Given the description of an element on the screen output the (x, y) to click on. 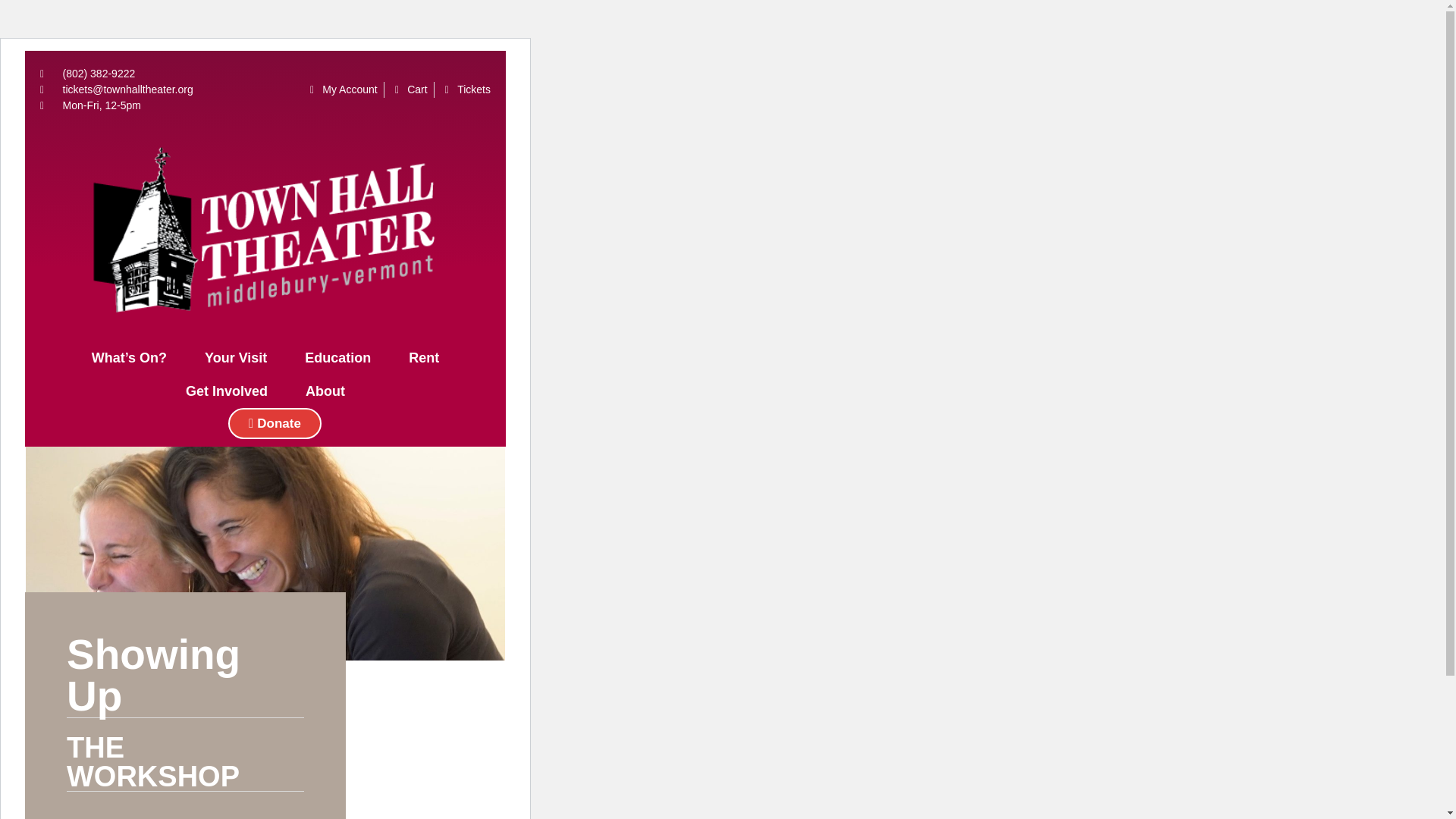
Get Involved (226, 390)
Tickets (465, 89)
Your Visit (235, 357)
Education (337, 357)
Cart (409, 89)
Rent (424, 357)
About (325, 390)
My Account (341, 89)
